Given the description of an element on the screen output the (x, y) to click on. 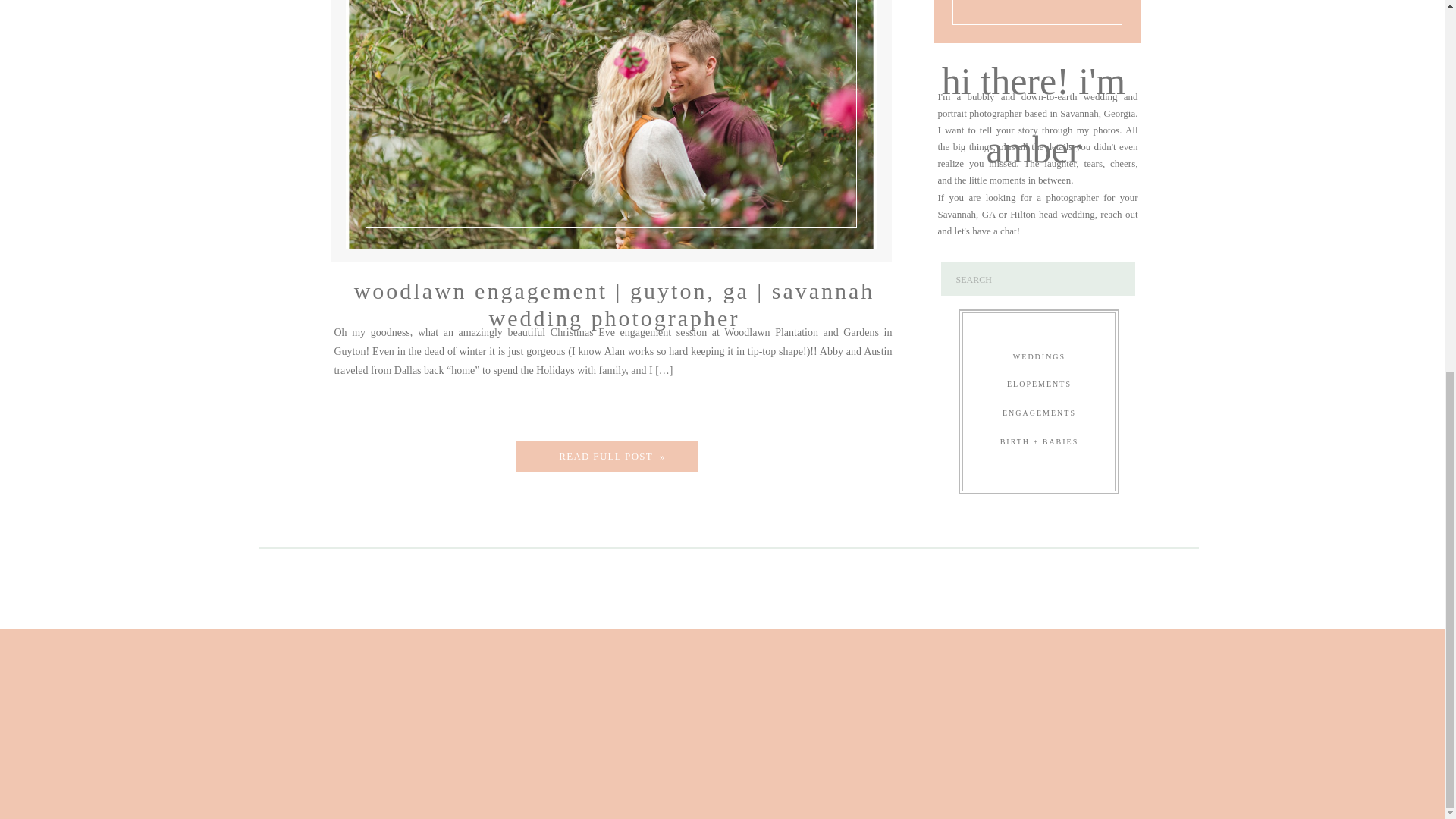
WEDDINGS (1038, 360)
ENGAGEMENTS (1038, 415)
ELOPEMENTS (1038, 387)
